Given the description of an element on the screen output the (x, y) to click on. 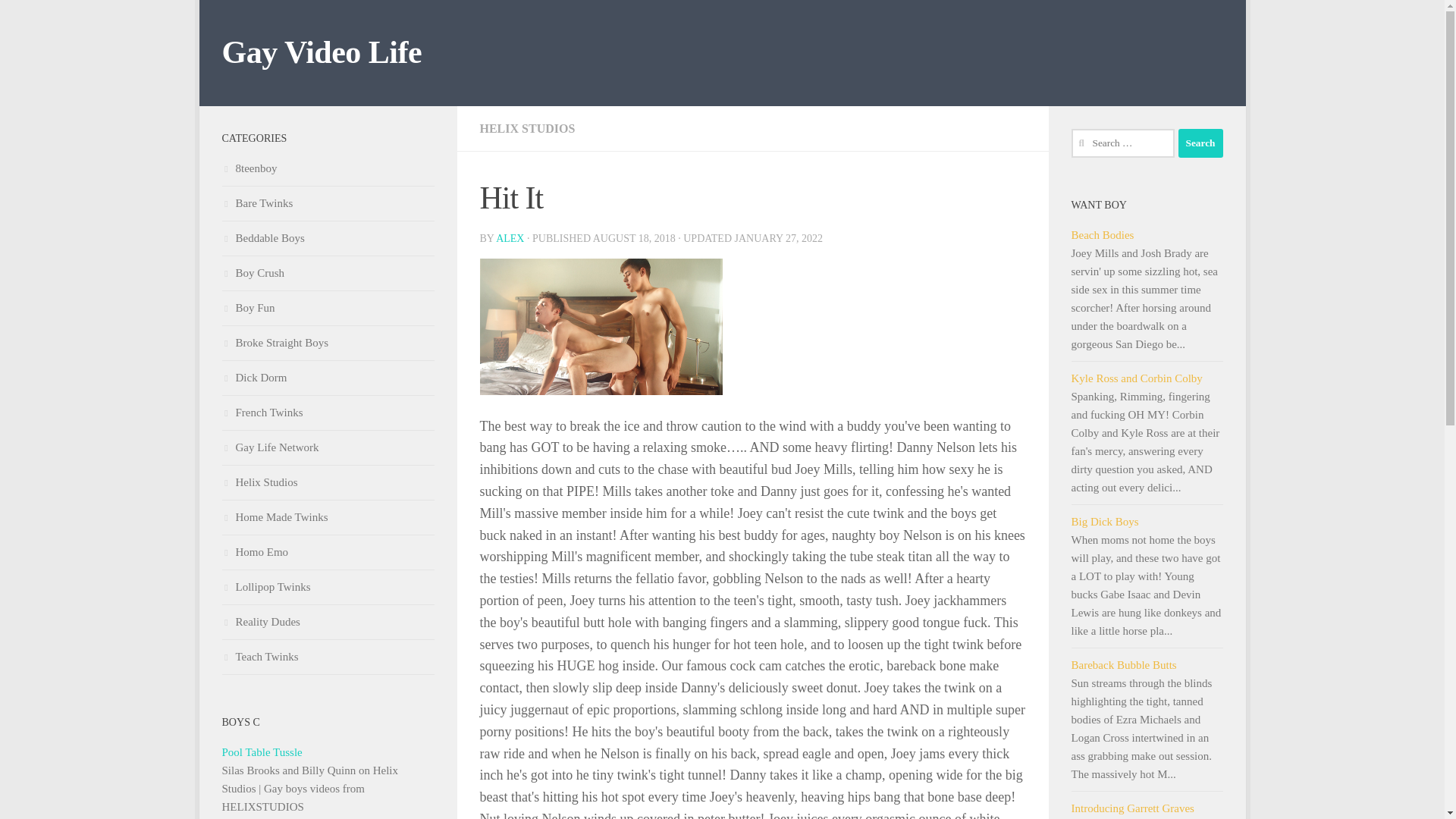
Pool Table Tussle (327, 751)
Home Made Twinks (274, 517)
French Twinks (261, 412)
Boy Crush (252, 272)
Posts by Alex (510, 238)
ALEX (510, 238)
Beddable Boys (262, 237)
Gay Video Life (321, 53)
Bare Twinks (256, 203)
Broke Straight Boys (275, 342)
Homo Emo (254, 551)
Gay Life Network (269, 447)
BOYS C (240, 721)
HELIX STUDIOS (527, 128)
Search (1200, 143)
